Given the description of an element on the screen output the (x, y) to click on. 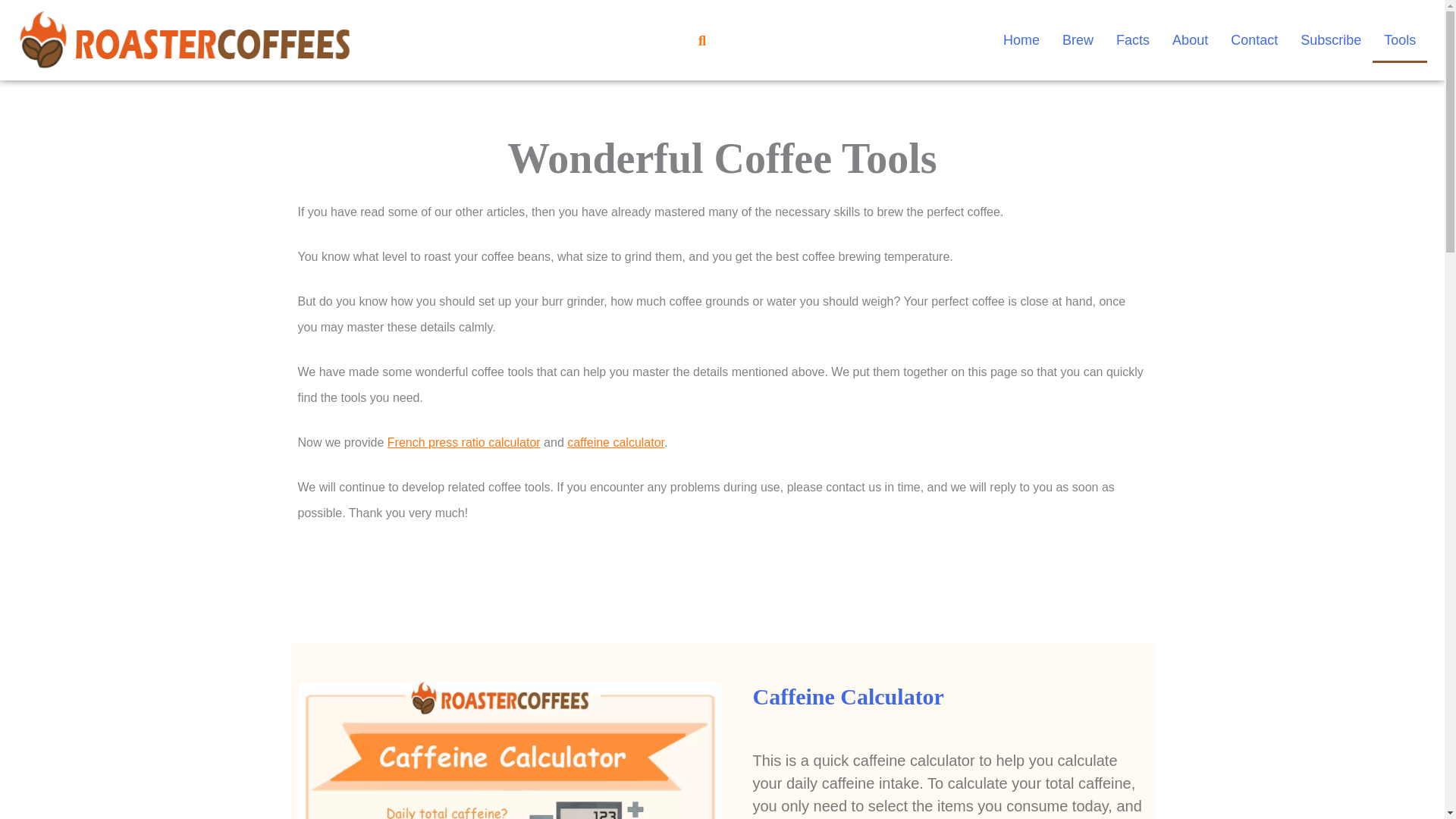
Facts (1132, 40)
Tools (1399, 40)
About (1190, 40)
Home (1021, 40)
Brew (1078, 40)
Subscribe (1330, 40)
Caffeine Calculator (847, 696)
Contact (1254, 40)
caffeine calculator (615, 441)
French press ratio calculator (463, 441)
